Given the description of an element on the screen output the (x, y) to click on. 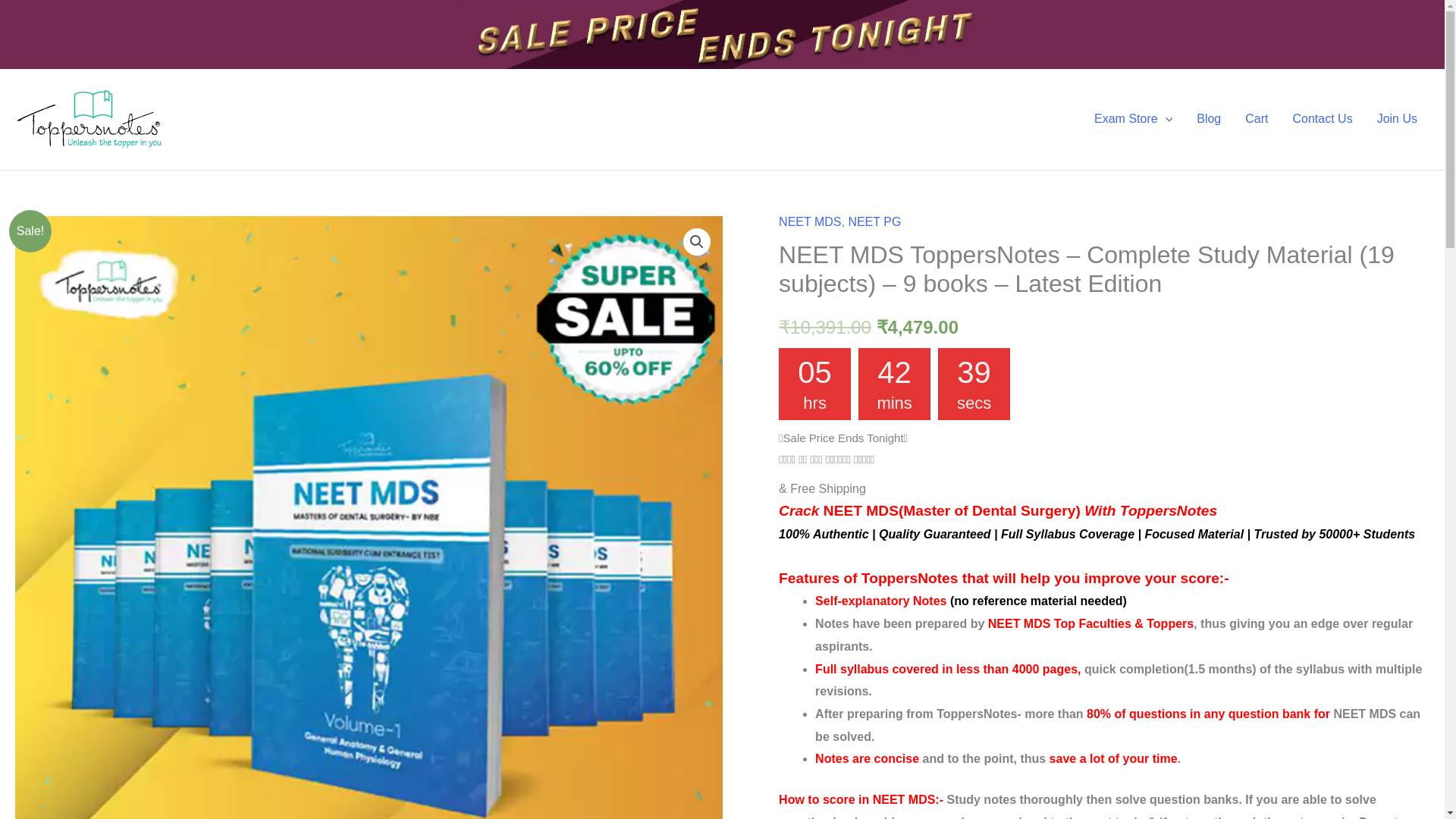
Contact Us (1321, 118)
Exam Store (1133, 118)
Join Us (1397, 118)
